Given the description of an element on the screen output the (x, y) to click on. 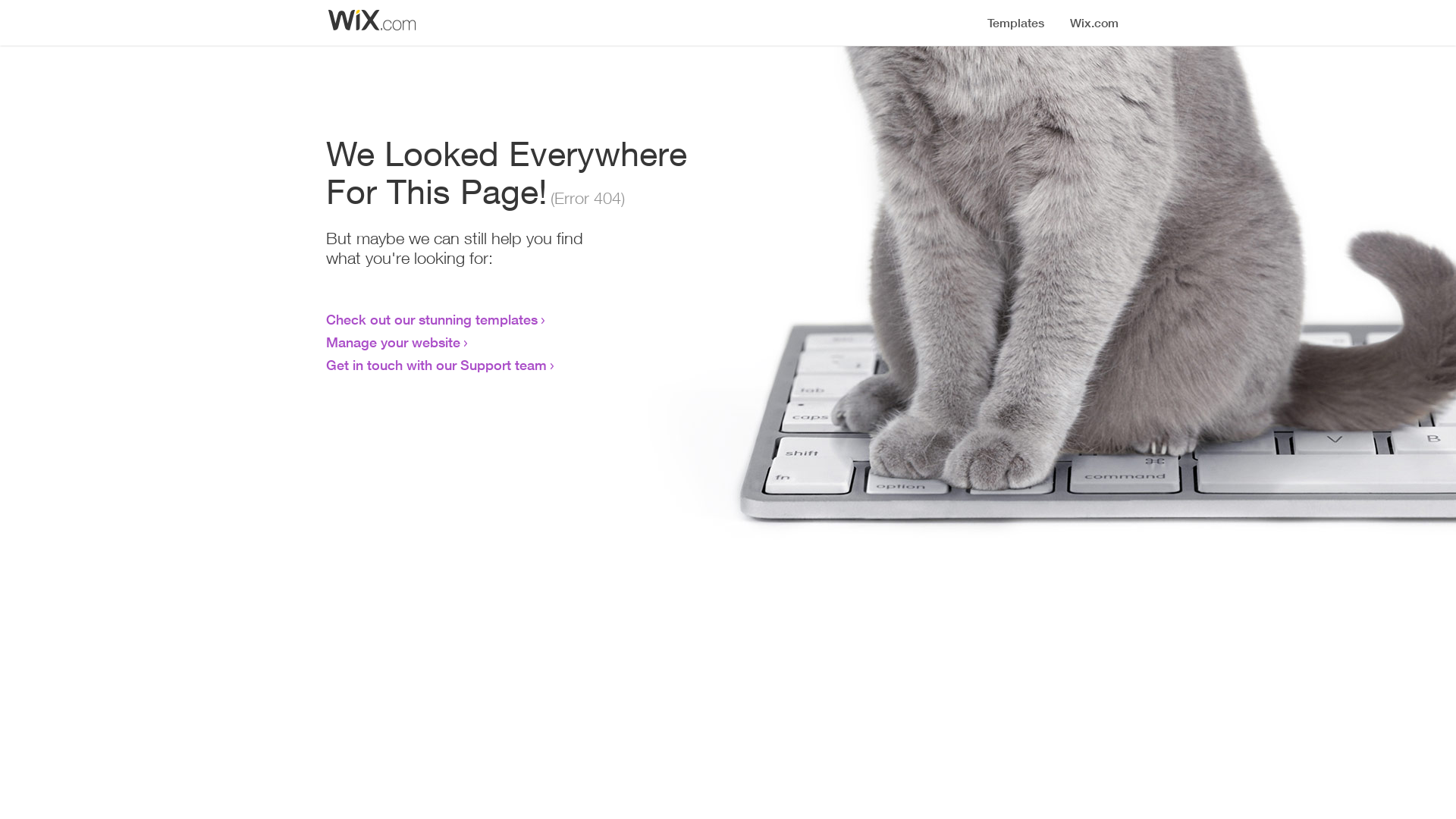
Check out our stunning templates Element type: text (431, 318)
Manage your website Element type: text (393, 341)
Get in touch with our Support team Element type: text (436, 364)
